Given the description of an element on the screen output the (x, y) to click on. 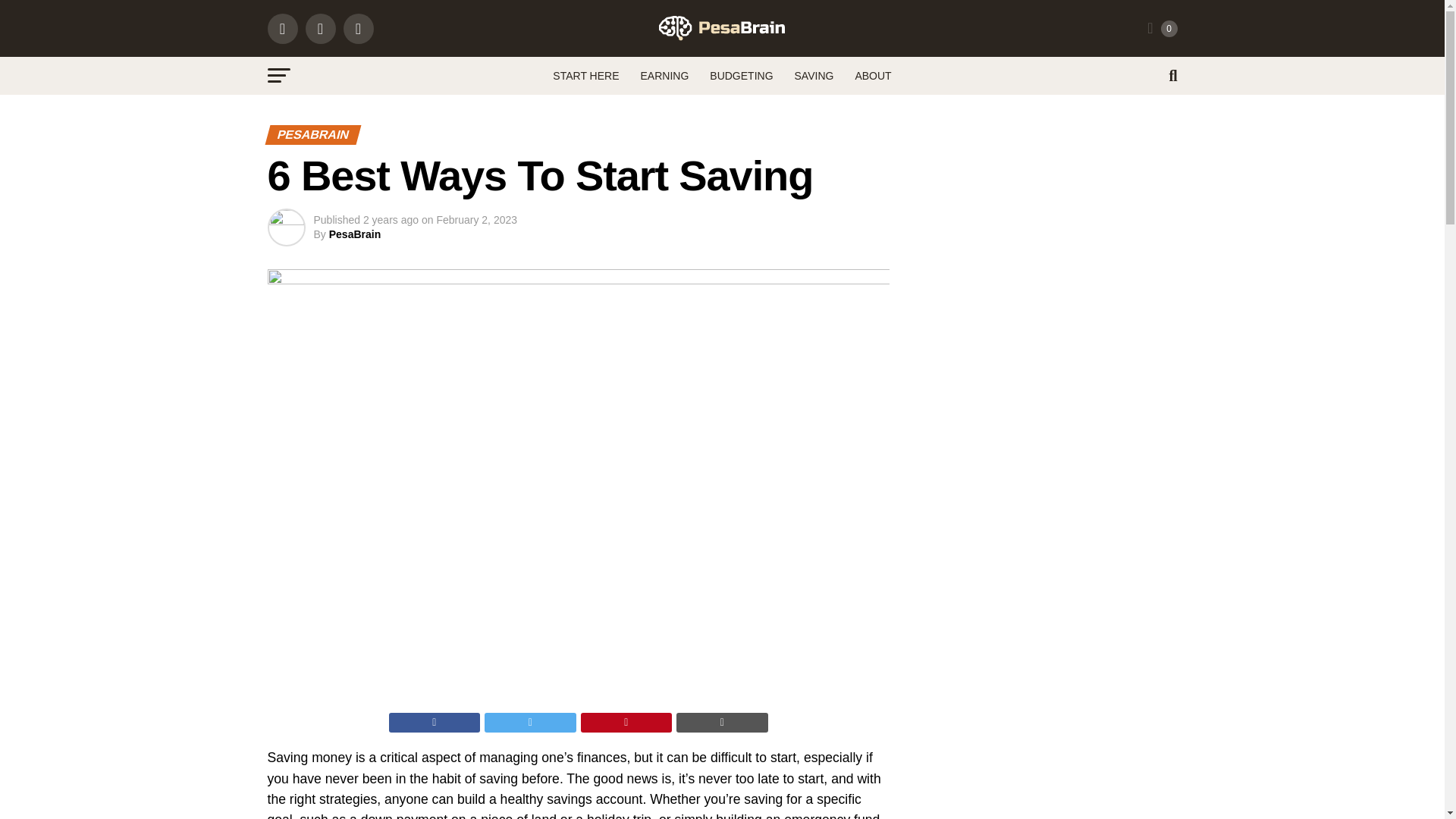
EARNING (663, 75)
BUDGETING (740, 75)
ABOUT (872, 75)
SAVING (814, 75)
START HERE (585, 75)
